Given the description of an element on the screen output the (x, y) to click on. 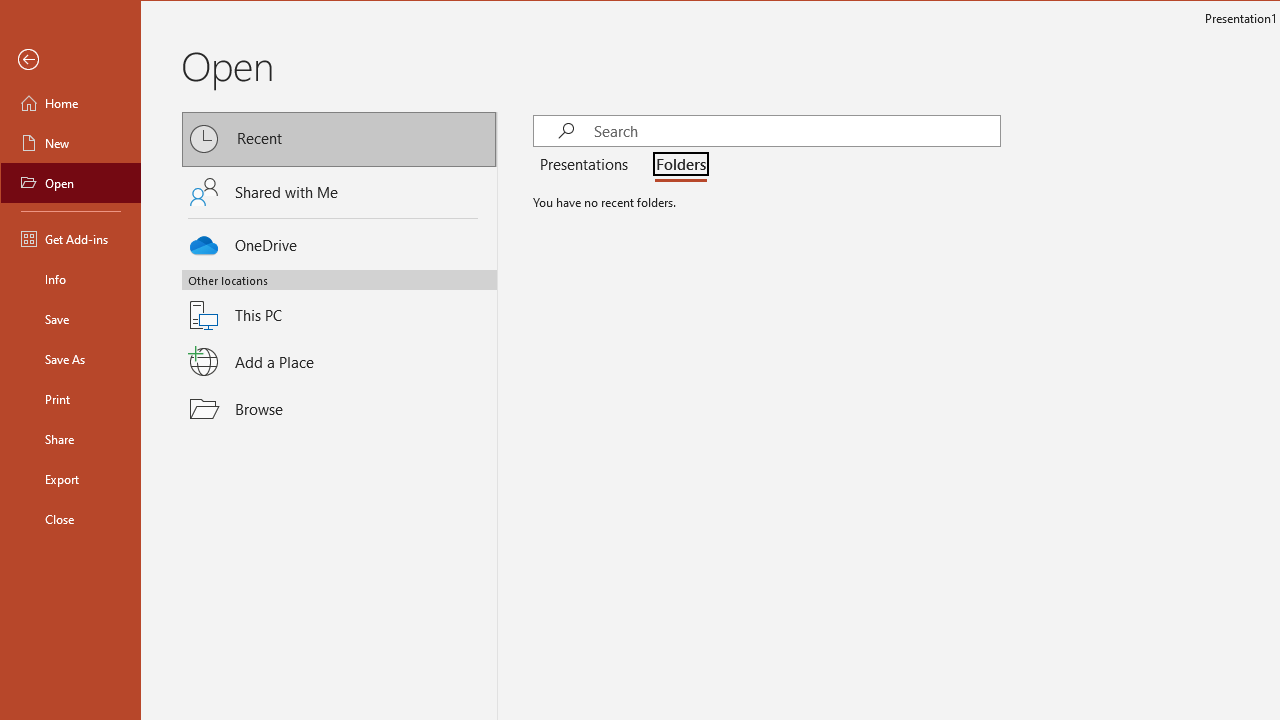
Export (70, 478)
Info (70, 278)
Shared with Me (339, 191)
Presentations (587, 165)
Browse (339, 409)
Recent (339, 139)
Back (70, 60)
New (70, 142)
